Given the description of an element on the screen output the (x, y) to click on. 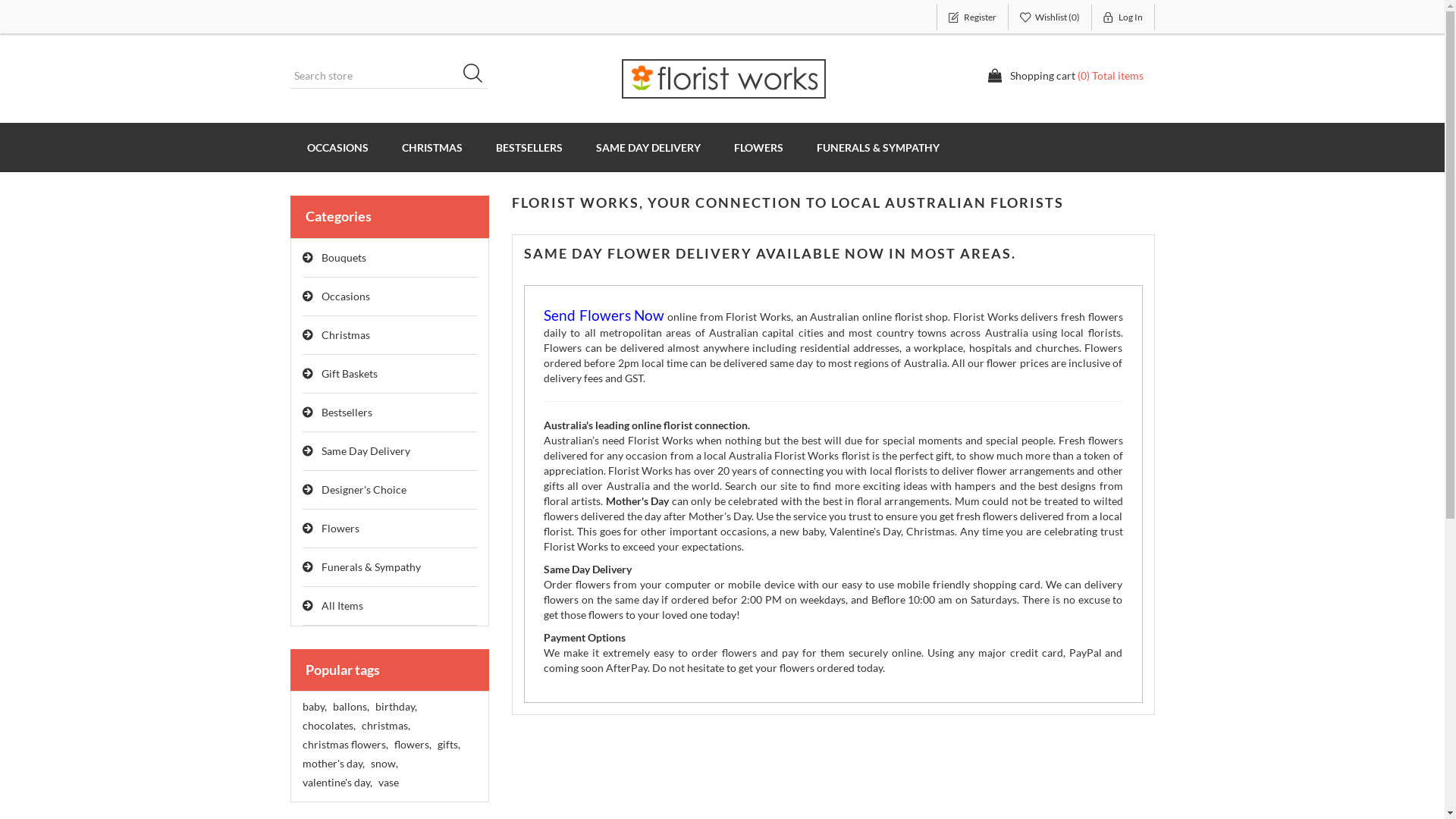
Gift Baskets Element type: text (388, 373)
christmas, Element type: text (384, 725)
Log In Element type: text (1123, 17)
FLOWERS Element type: text (758, 147)
CHRISTMAS Element type: text (432, 147)
chocolates, Element type: text (327, 725)
Designer's Choice Element type: text (388, 489)
Register Element type: text (971, 17)
birthday, Element type: text (395, 706)
valentine's day, Element type: text (336, 782)
Same Day Delivery Element type: text (388, 451)
Occasions Element type: text (388, 296)
Christmas Element type: text (388, 335)
snow, Element type: text (383, 763)
christmas flowers, Element type: text (344, 744)
Bouquets Element type: text (388, 257)
mother's day, Element type: text (332, 763)
Funerals & Sympathy Element type: text (388, 567)
vase Element type: text (387, 782)
Send Flowers Now Element type: text (603, 316)
All Items Element type: text (388, 605)
SAME DAY DELIVERY Element type: text (648, 147)
Bestsellers Element type: text (388, 412)
baby, Element type: text (313, 706)
ballons, Element type: text (350, 706)
Shopping cart (0) Total items Element type: text (1065, 75)
Wishlist (0) Element type: text (1050, 17)
OCCASIONS Element type: text (336, 147)
BESTSELLERS Element type: text (529, 147)
Flowers Element type: text (388, 528)
flowers, Element type: text (412, 744)
gifts, Element type: text (447, 744)
FUNERALS & SYMPATHY Element type: text (877, 147)
